Given the description of an element on the screen output the (x, y) to click on. 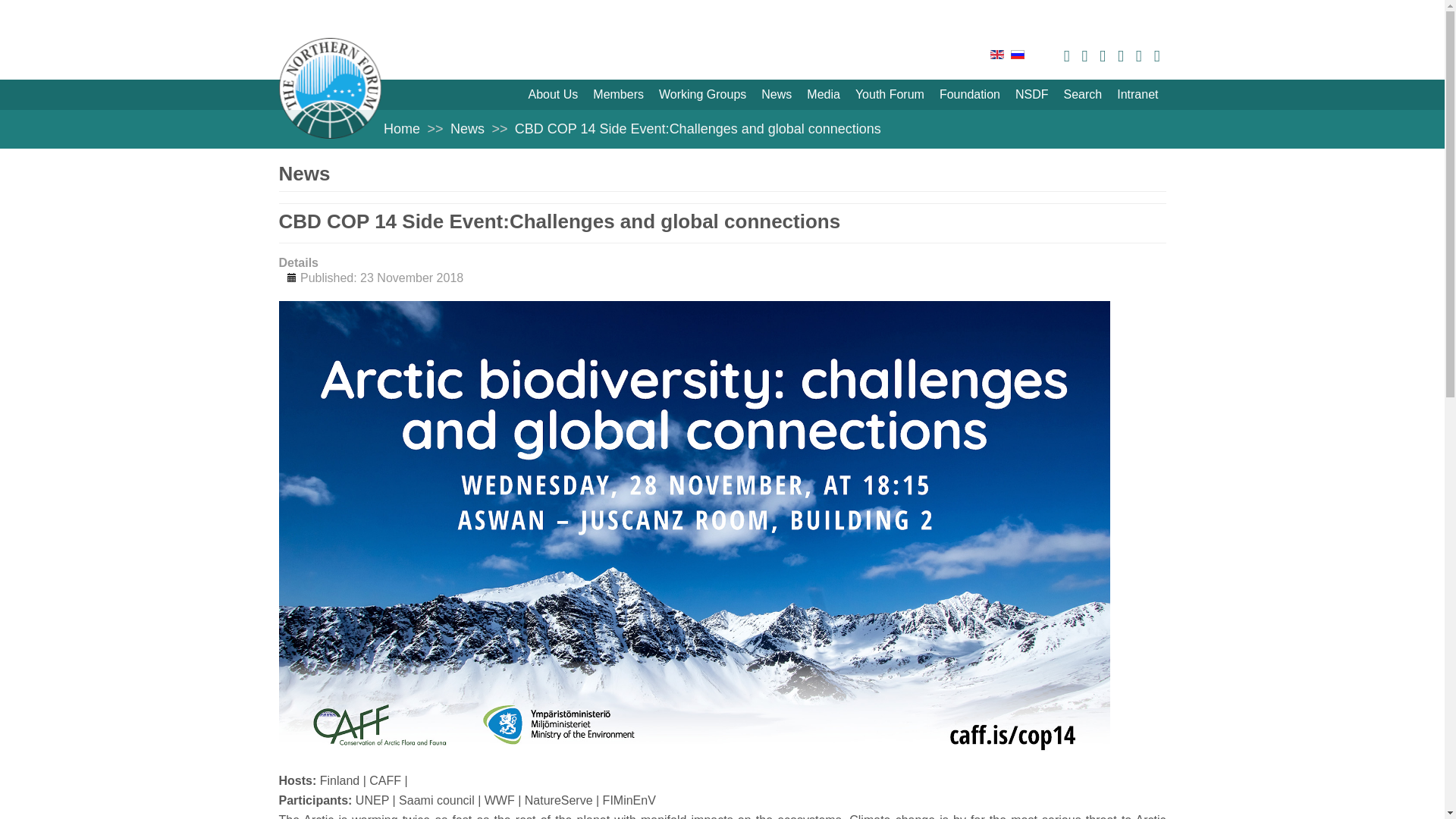
RSS (1121, 56)
Youtube (1102, 56)
Working Groups (702, 94)
Contact us! (1157, 56)
VKontakte (1067, 56)
Telegram (1084, 56)
About Us (552, 94)
Sitemap (1138, 56)
Members (617, 94)
